Given the description of an element on the screen output the (x, y) to click on. 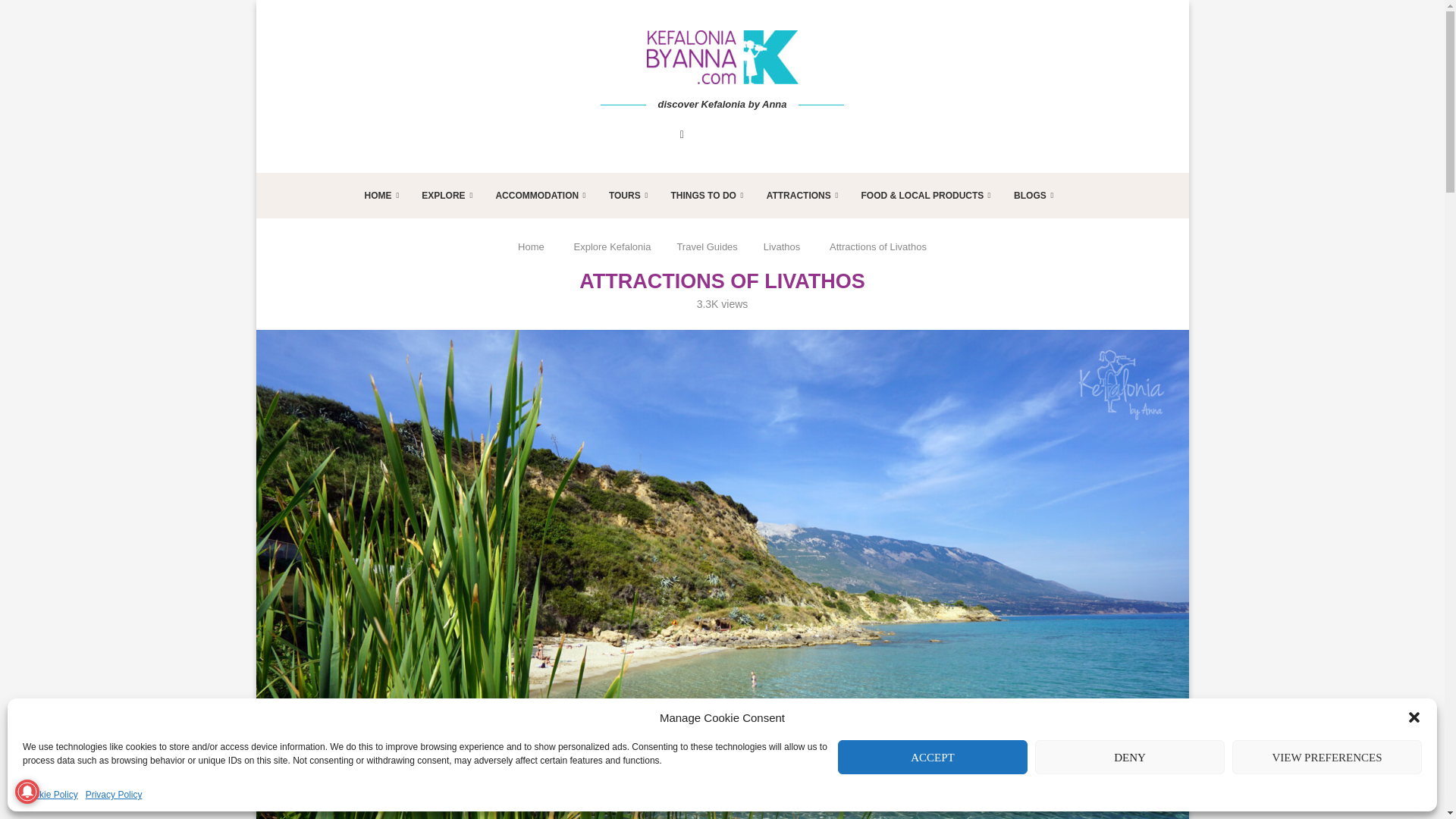
Cookie Policy (50, 794)
Accommodation in Kefalonia (540, 194)
ACCOMMODATION (540, 194)
VIEW PREFERENCES (1326, 756)
DENY (1129, 756)
EXPLORE (446, 194)
ACCEPT (932, 756)
Privacy Policy (113, 794)
